Given the description of an element on the screen output the (x, y) to click on. 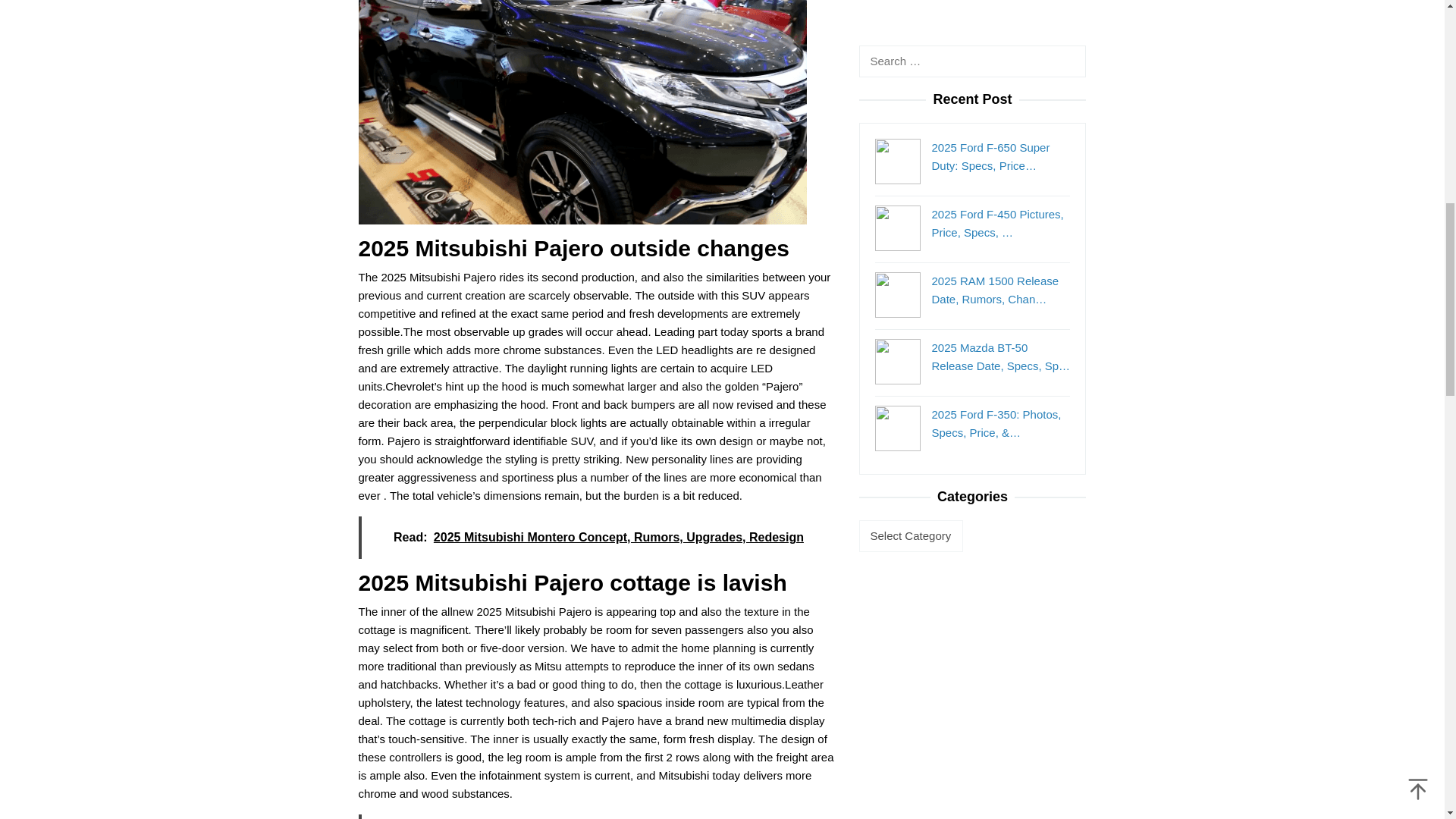
2025 Mitsubishi Pajero Sport Specs, Rumors and Release Date (582, 112)
2025 Mitsubishi Pajero Sport Specs, Rumors And Release Date (582, 95)
